Given the description of an element on the screen output the (x, y) to click on. 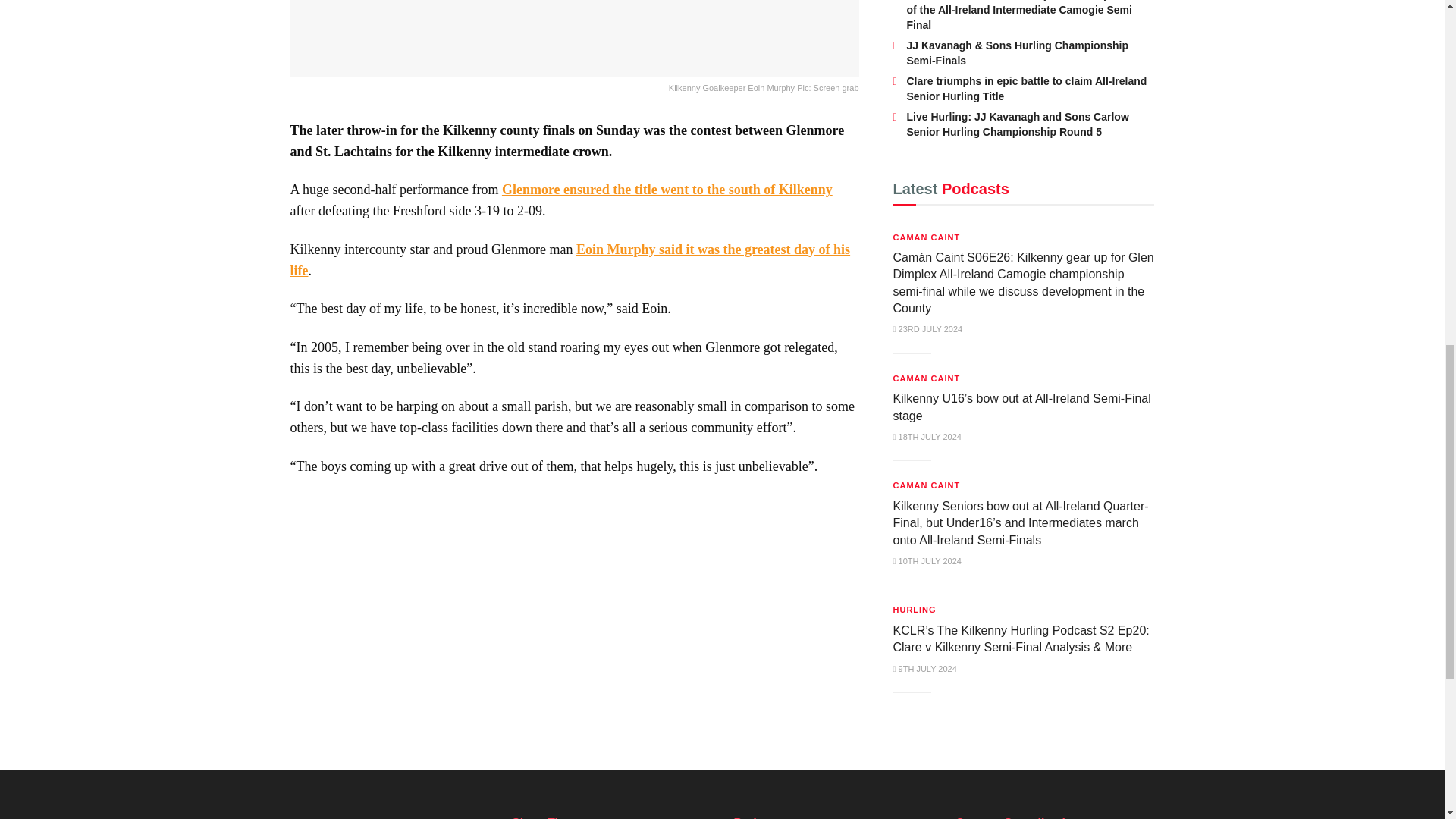
Kilkenny Goalkeeper Eoin Murphy Pic: Screen grab (574, 48)
Eoin Murphy said it was the greatest day of his life (569, 259)
Glenmore ensured the title went to the south of Kilkenny (667, 189)
CAMAN CAINT (926, 237)
23RD JULY 2024 (927, 328)
CAMAN CAINT (926, 378)
